Given the description of an element on the screen output the (x, y) to click on. 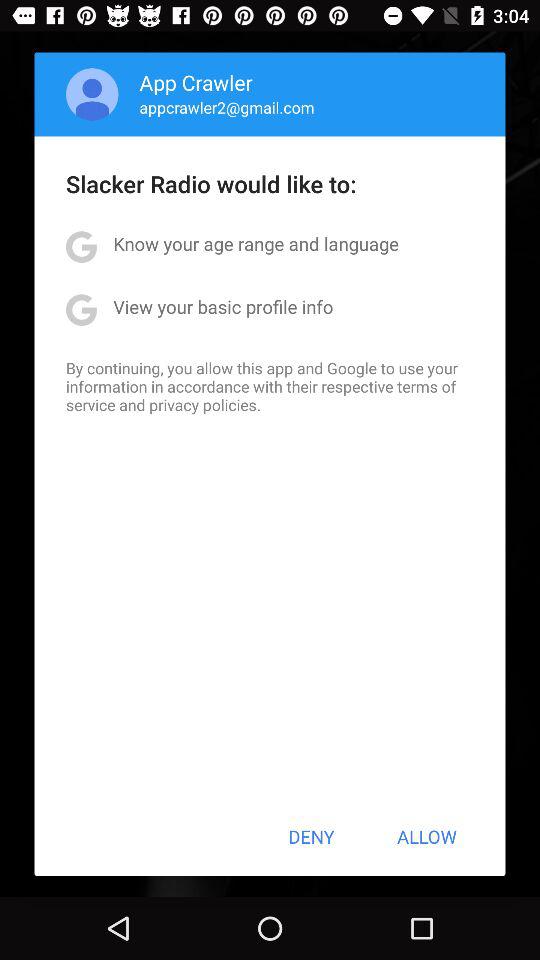
swipe until the app crawler (195, 82)
